Given the description of an element on the screen output the (x, y) to click on. 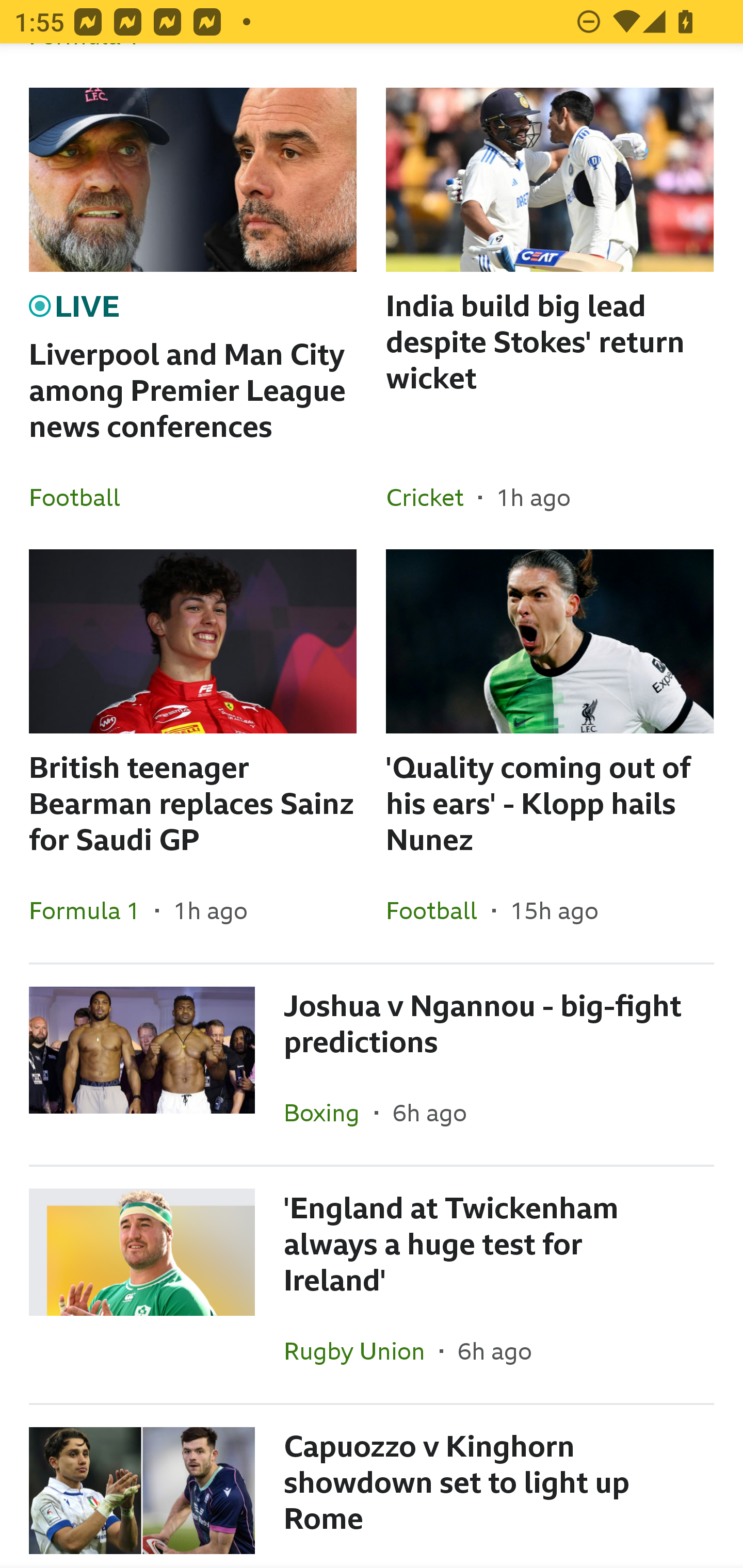
Football In the section Football (81, 496)
Cricket In the section Cricket (431, 496)
Formula 1 In the section Formula 1 (91, 909)
Football In the section Football (438, 909)
Boxing In the section Boxing (328, 1112)
Rugby Union In the section Rugby Union (361, 1350)
